Given the description of an element on the screen output the (x, y) to click on. 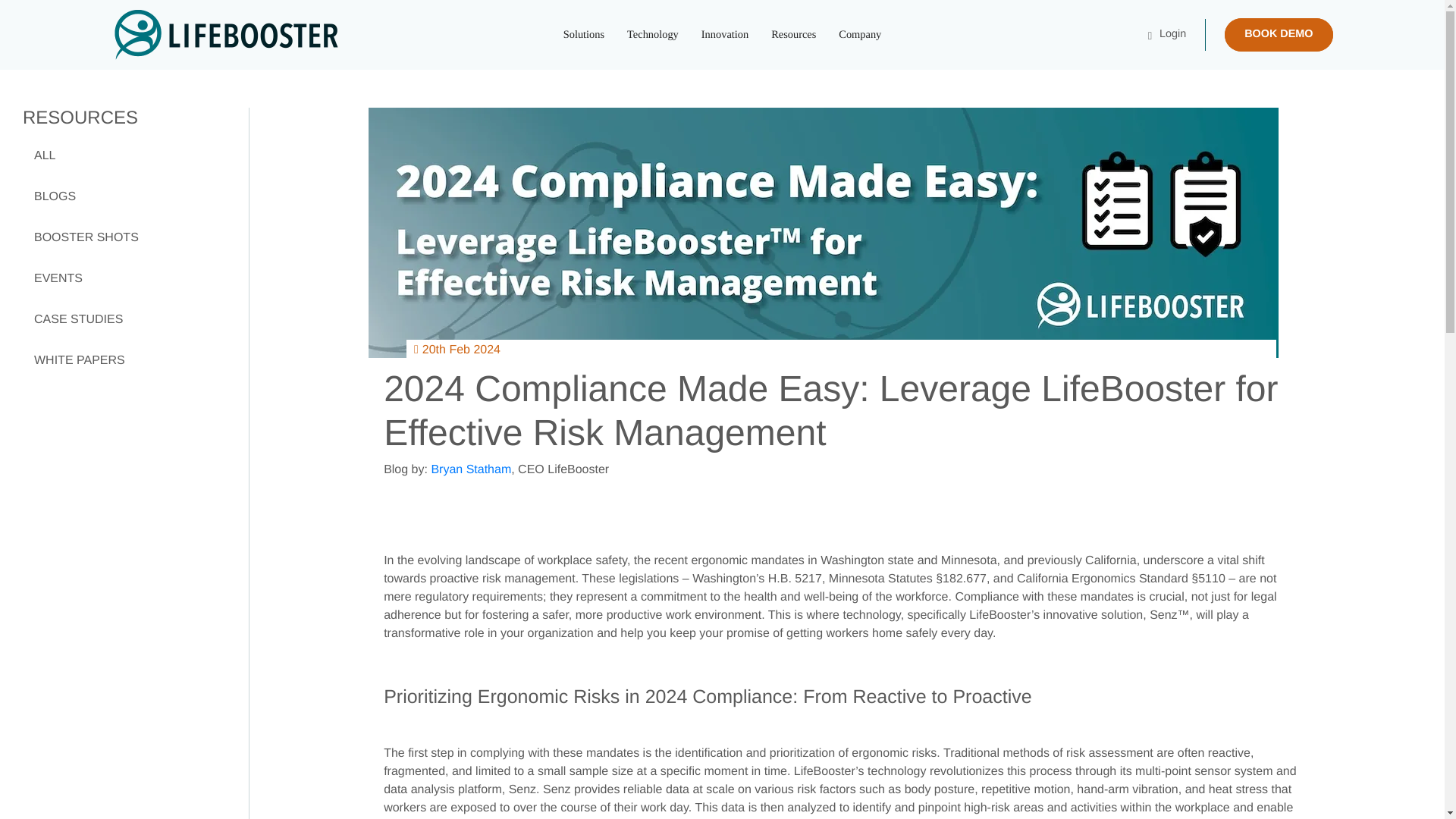
Resources (793, 34)
EVENTS (130, 278)
Technology (652, 34)
CASE STUDIES (130, 319)
WHITE PAPERS (130, 360)
Innovation (725, 34)
Solutions (583, 34)
Company (859, 34)
BOOSTER SHOTS (130, 237)
BLOGS (130, 196)
Login (1167, 34)
BOOK DEMO (1278, 34)
Bryan Statham (470, 469)
ALL (130, 155)
